Given the description of an element on the screen output the (x, y) to click on. 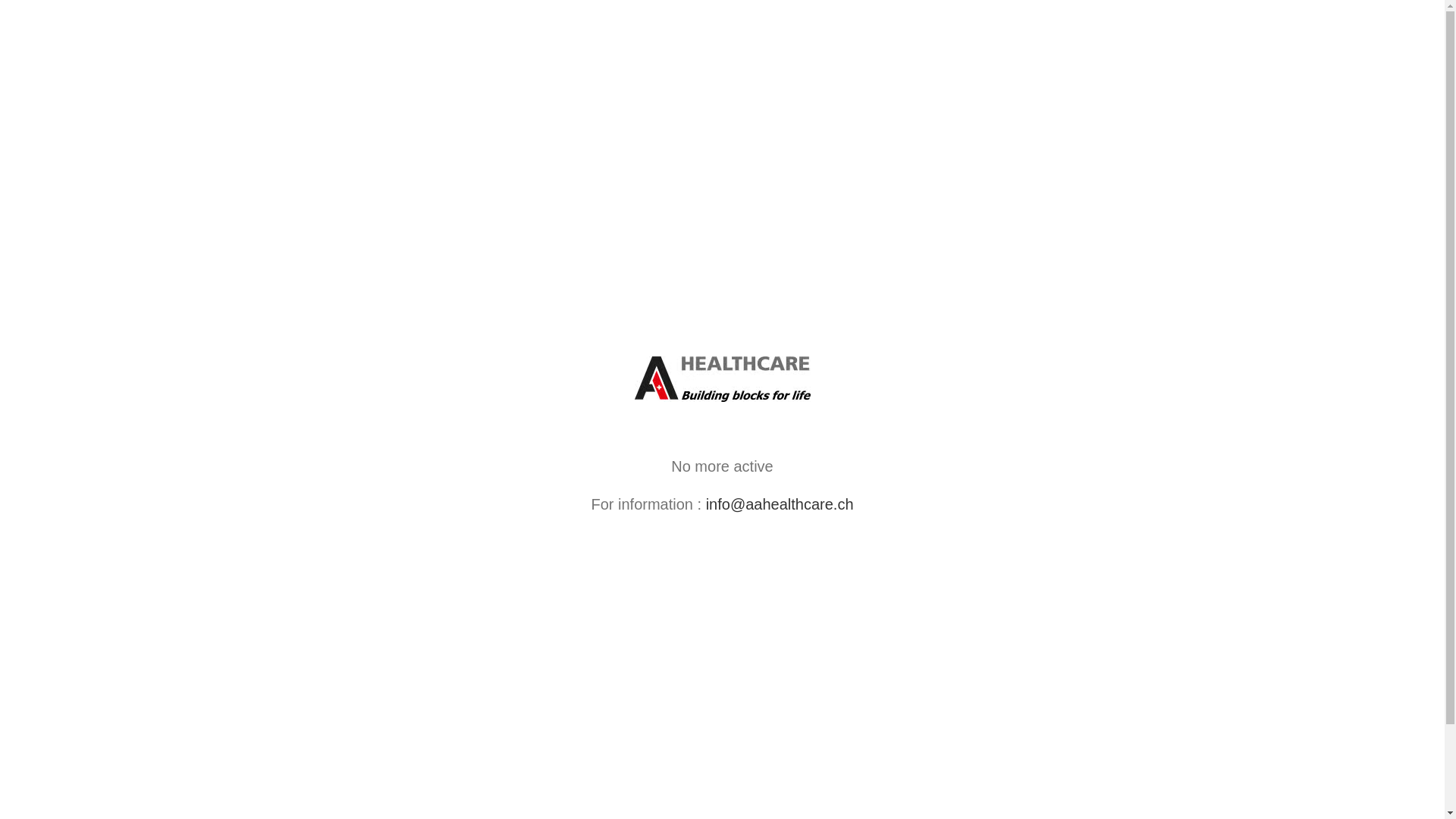
info@aahealthcare.ch Element type: text (779, 503)
